Given the description of an element on the screen output the (x, y) to click on. 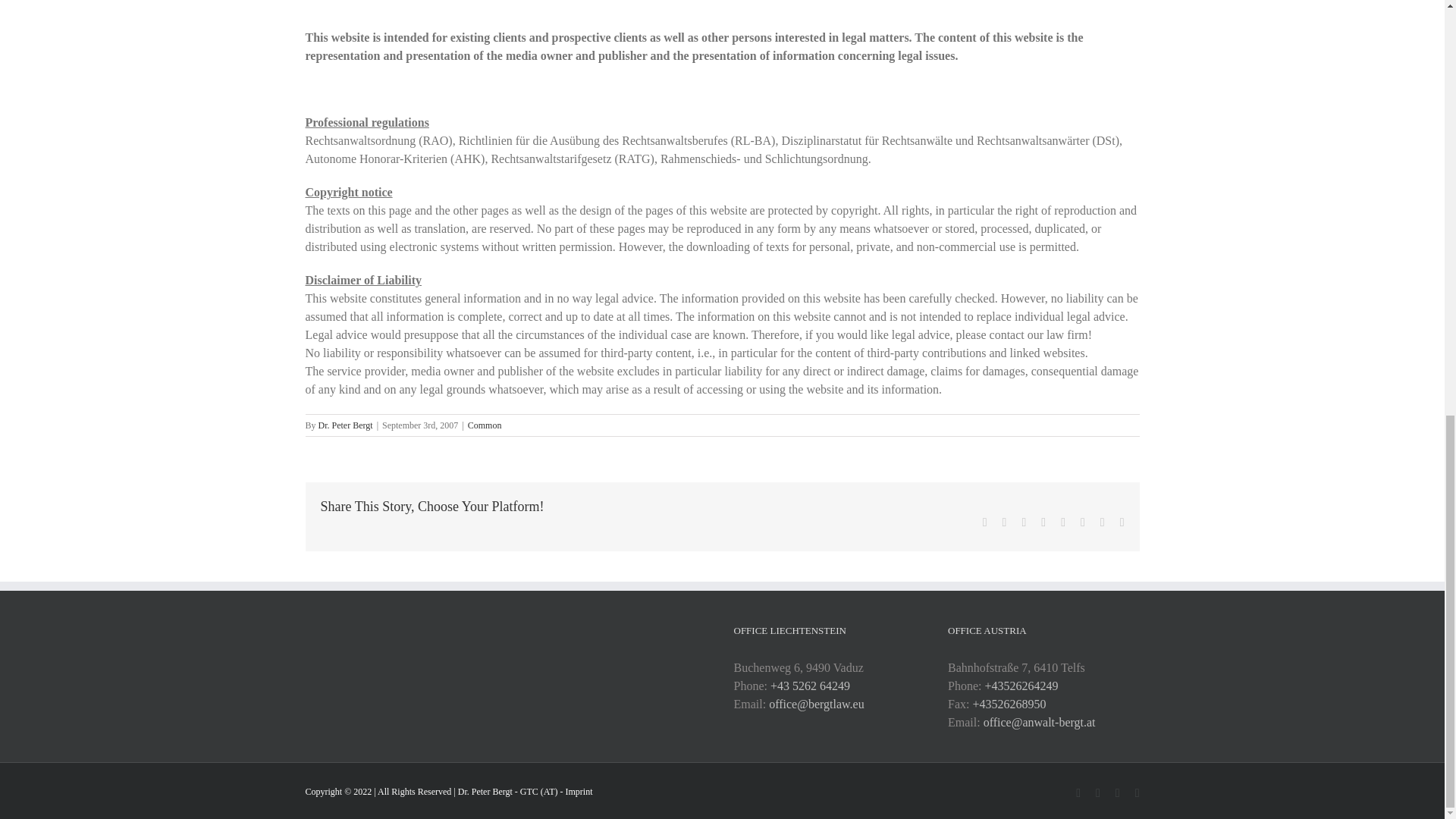
Posts by Dr. Peter Bergt (345, 425)
Common (484, 425)
Facebook (984, 522)
Pinterest (1082, 522)
Reddit (1024, 522)
X (1005, 522)
Tumblr (1063, 522)
Dr. Peter Bergt (345, 425)
Facebook (984, 522)
LinkedIn (1043, 522)
